Given the description of an element on the screen output the (x, y) to click on. 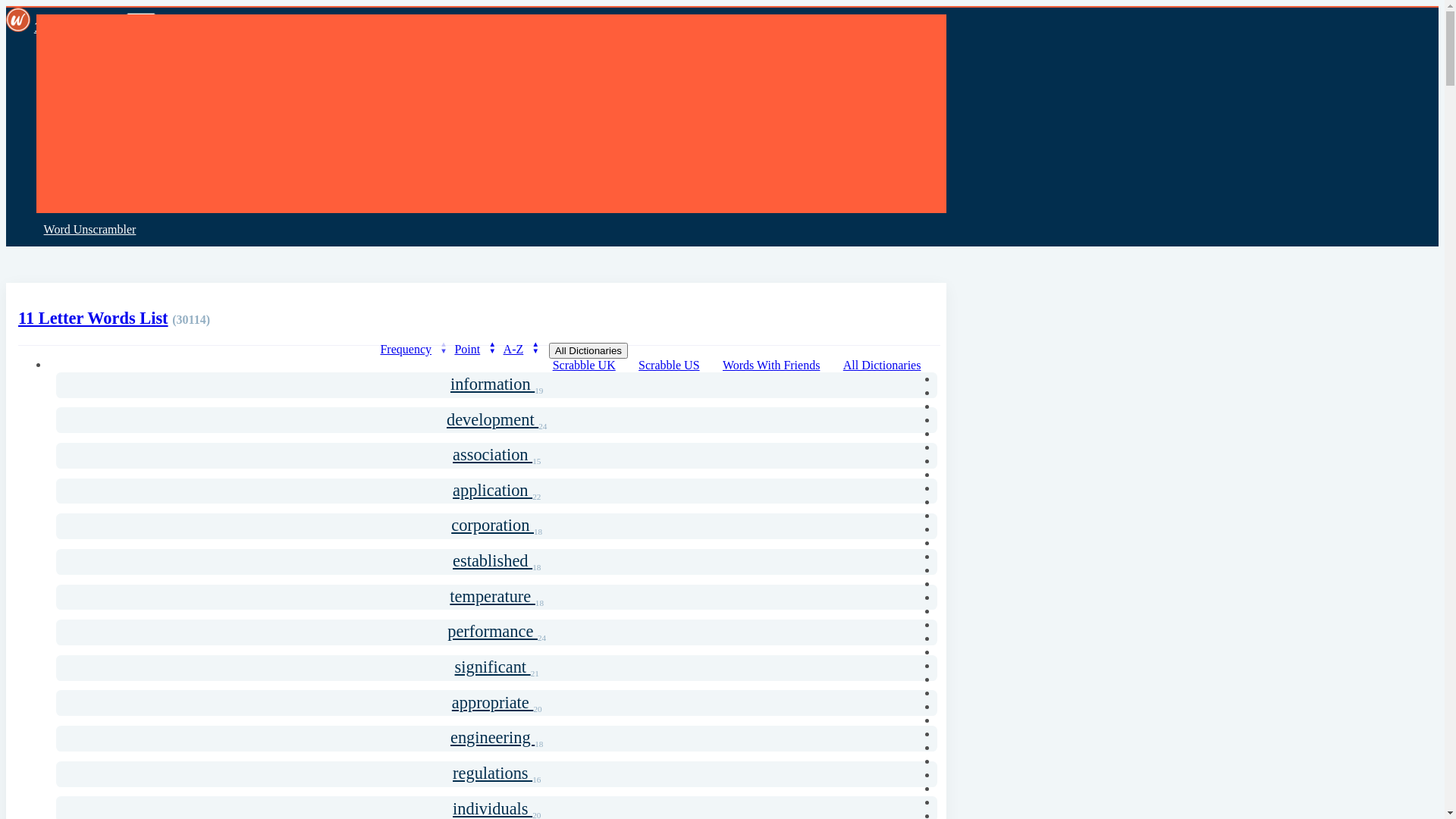
development 24 Element type: text (496, 420)
temperature 18 Element type: text (496, 597)
engineering 18 Element type: text (496, 738)
regulations 16 Element type: text (496, 774)
Frequency Element type: text (414, 349)
corporation 18 Element type: text (496, 526)
Word Unscrambler Element type: text (89, 229)
All Dictionaries Element type: text (588, 350)
association 15 Element type: text (496, 455)
appropriate 20 Element type: text (496, 702)
11 Letter Words List Element type: text (93, 317)
A-Z Element type: text (522, 349)
established 18 Element type: text (496, 561)
application 22 Element type: text (496, 491)
All Dictionaries Element type: text (891, 365)
Starting With Element type: text (76, 130)
performance 24 Element type: text (496, 632)
Word Finder Element type: text (74, 97)
Containing Element type: text (70, 196)
Home Element type: text (58, 64)
Scrabble UK Element type: text (593, 365)
significant 21 Element type: text (496, 667)
Ending In Element type: text (67, 163)
11-Letter Words Element type: text (66, 27)
information 19 Element type: text (496, 385)
Point Element type: text (476, 349)
Scrabble US Element type: text (678, 365)
Words With Friends Element type: text (780, 365)
